Given the description of an element on the screen output the (x, y) to click on. 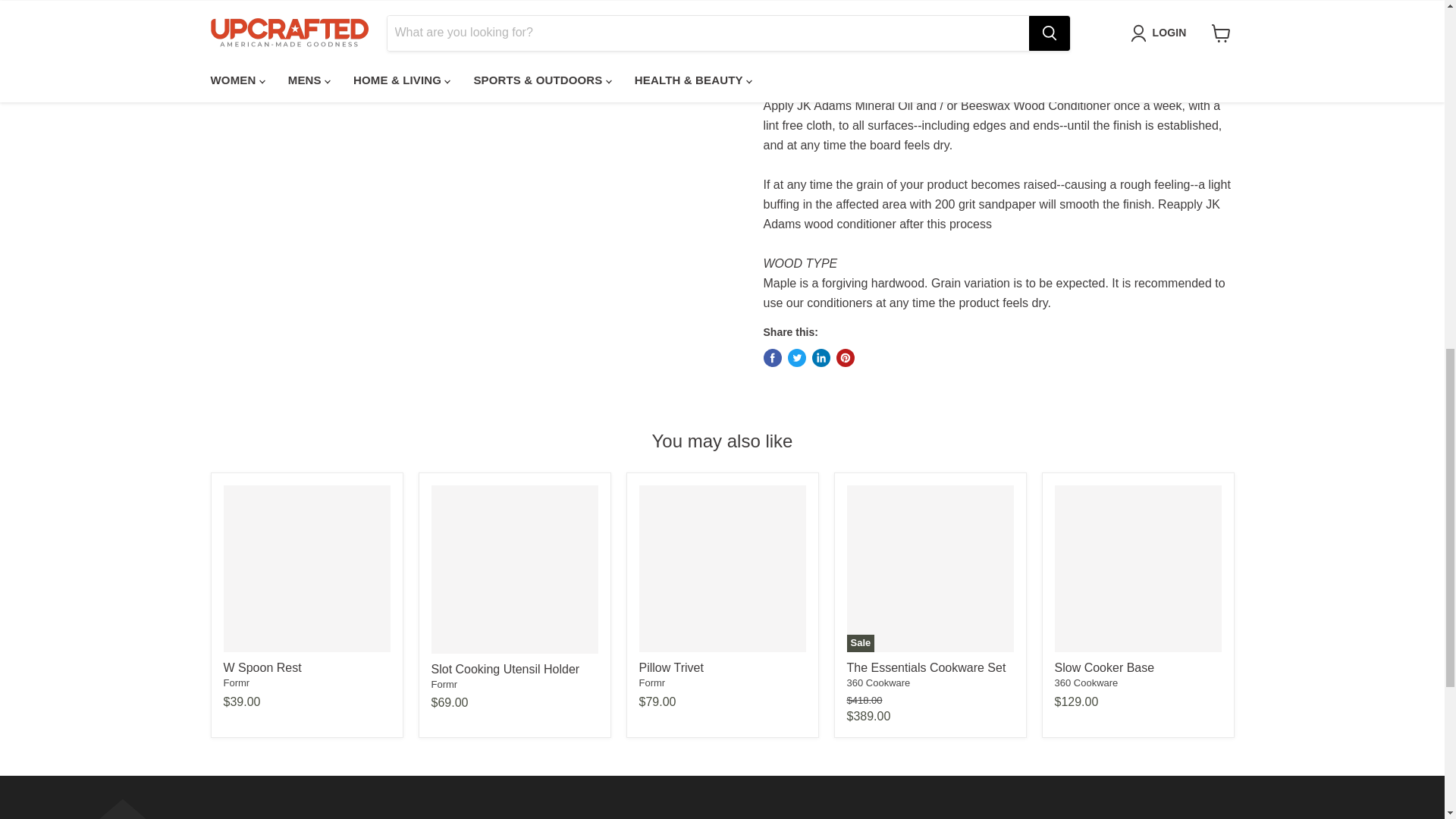
360 Cookware (1086, 682)
Formr (443, 684)
Formr (235, 682)
Formr (652, 682)
360 Cookware (877, 682)
